Given the description of an element on the screen output the (x, y) to click on. 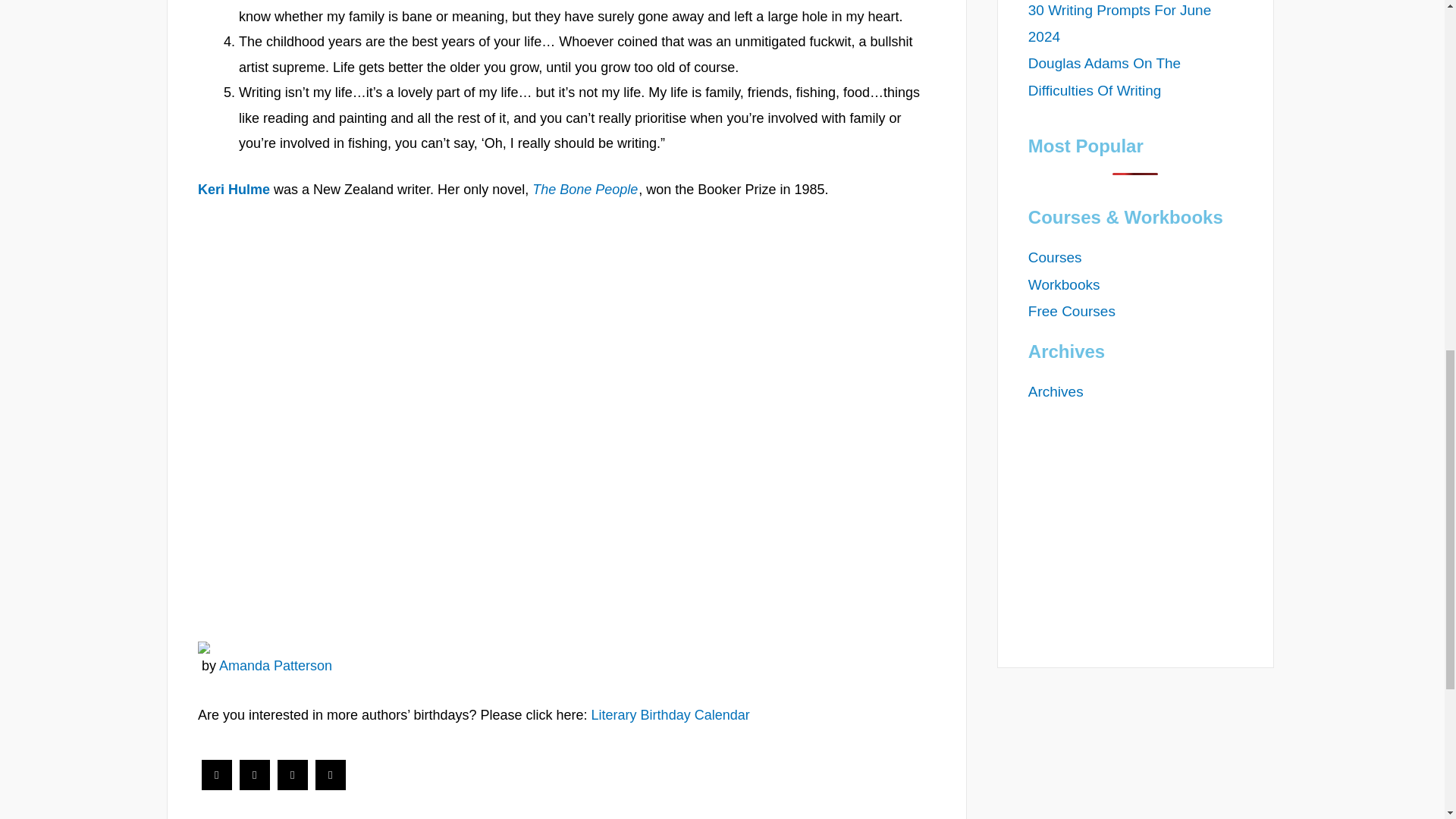
Share on Twitter (254, 785)
Share to LinkedIn (292, 785)
Share on Pinterest (330, 785)
Share on Facebook (216, 785)
